Given the description of an element on the screen output the (x, y) to click on. 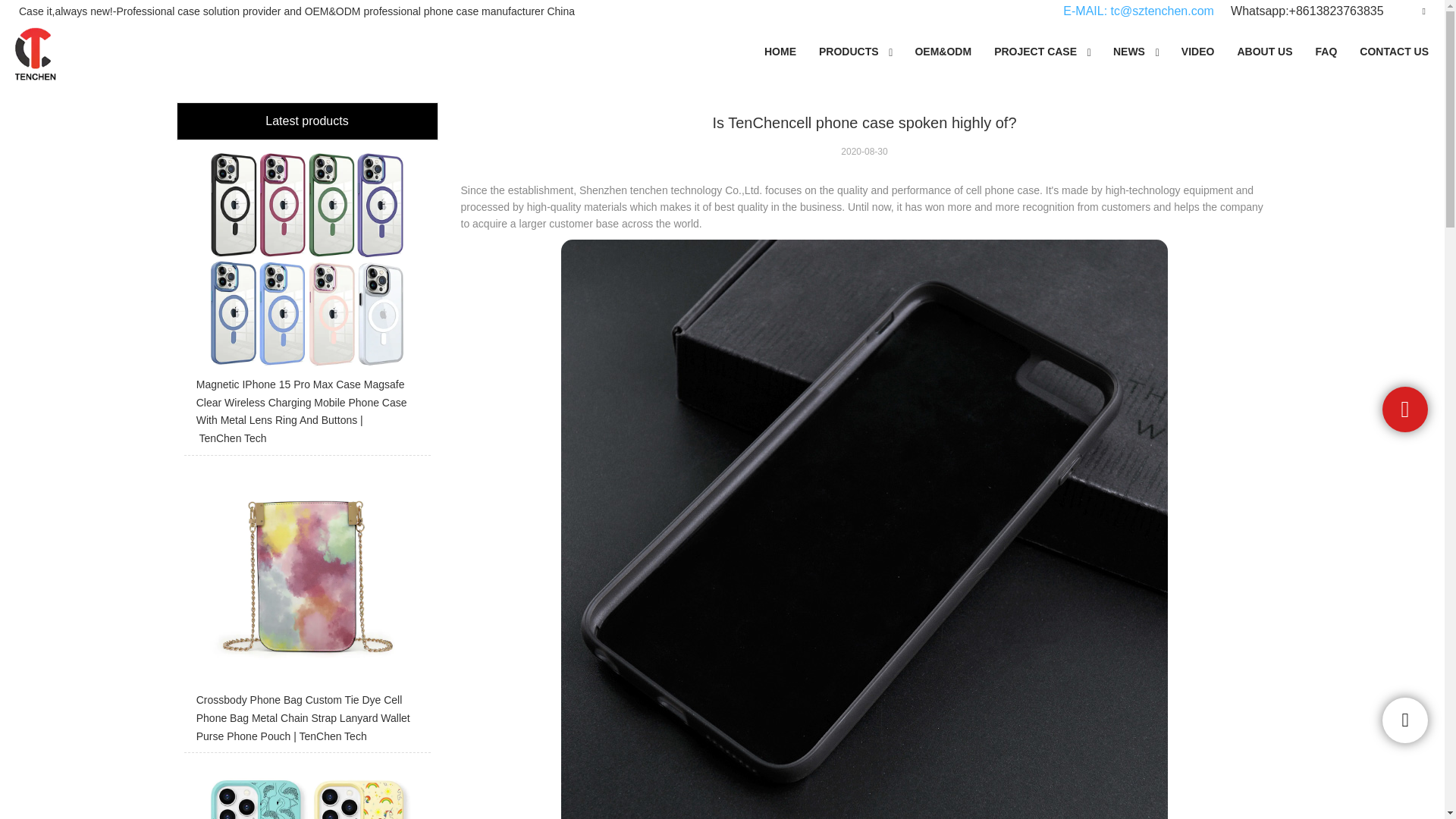
PRODUCTS (848, 52)
HOME (780, 52)
VIDEO (1197, 52)
FAQ (1326, 52)
NEWS (1129, 52)
CONTACT US (1393, 52)
PROJECT CASE (1034, 52)
ABOUT US (1264, 52)
